Given the description of an element on the screen output the (x, y) to click on. 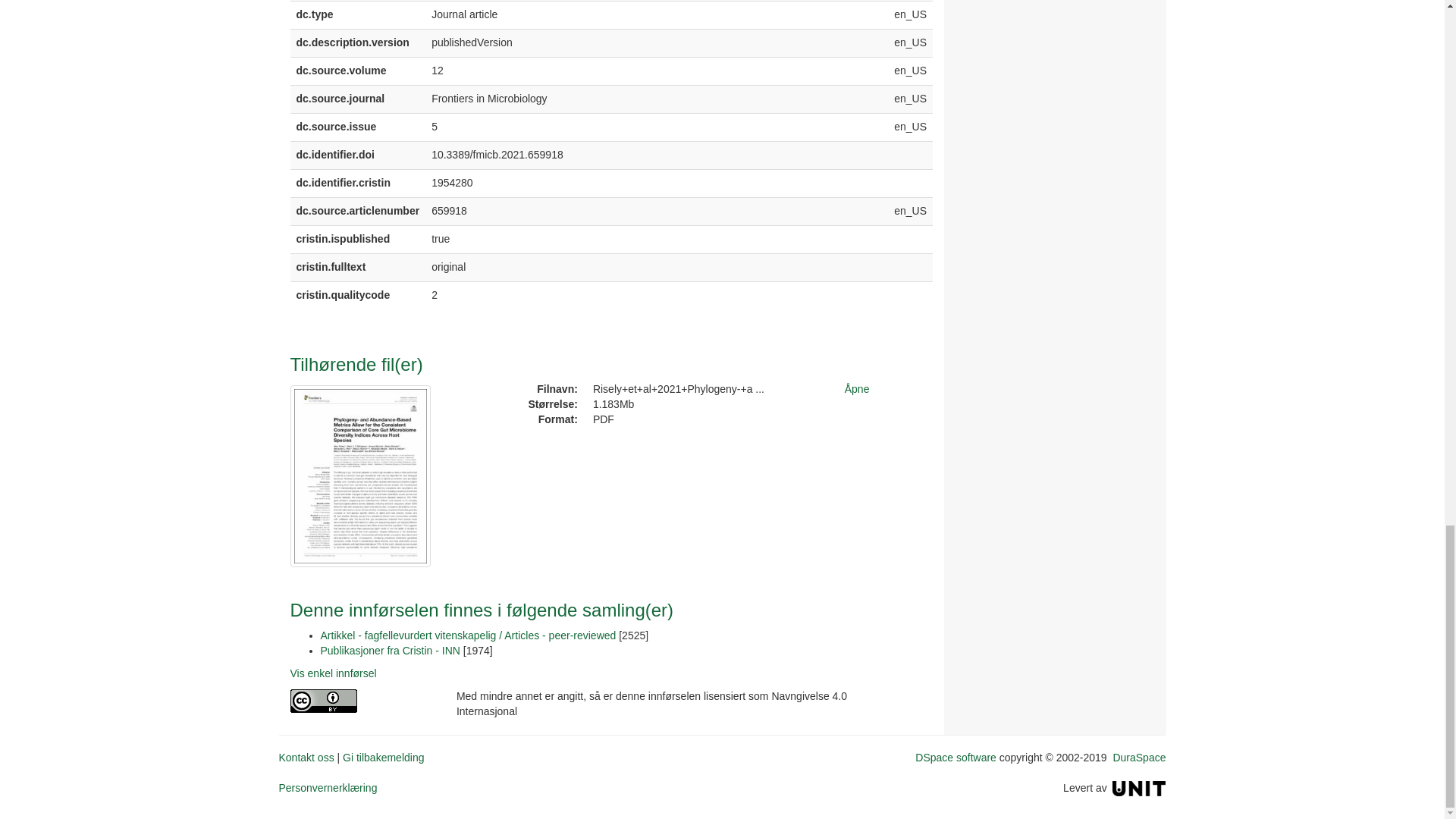
Unit (1139, 787)
Publikasjoner fra Cristin - INN (390, 650)
Navngivelse 4.0 Internasjonal (360, 700)
